Given the description of an element on the screen output the (x, y) to click on. 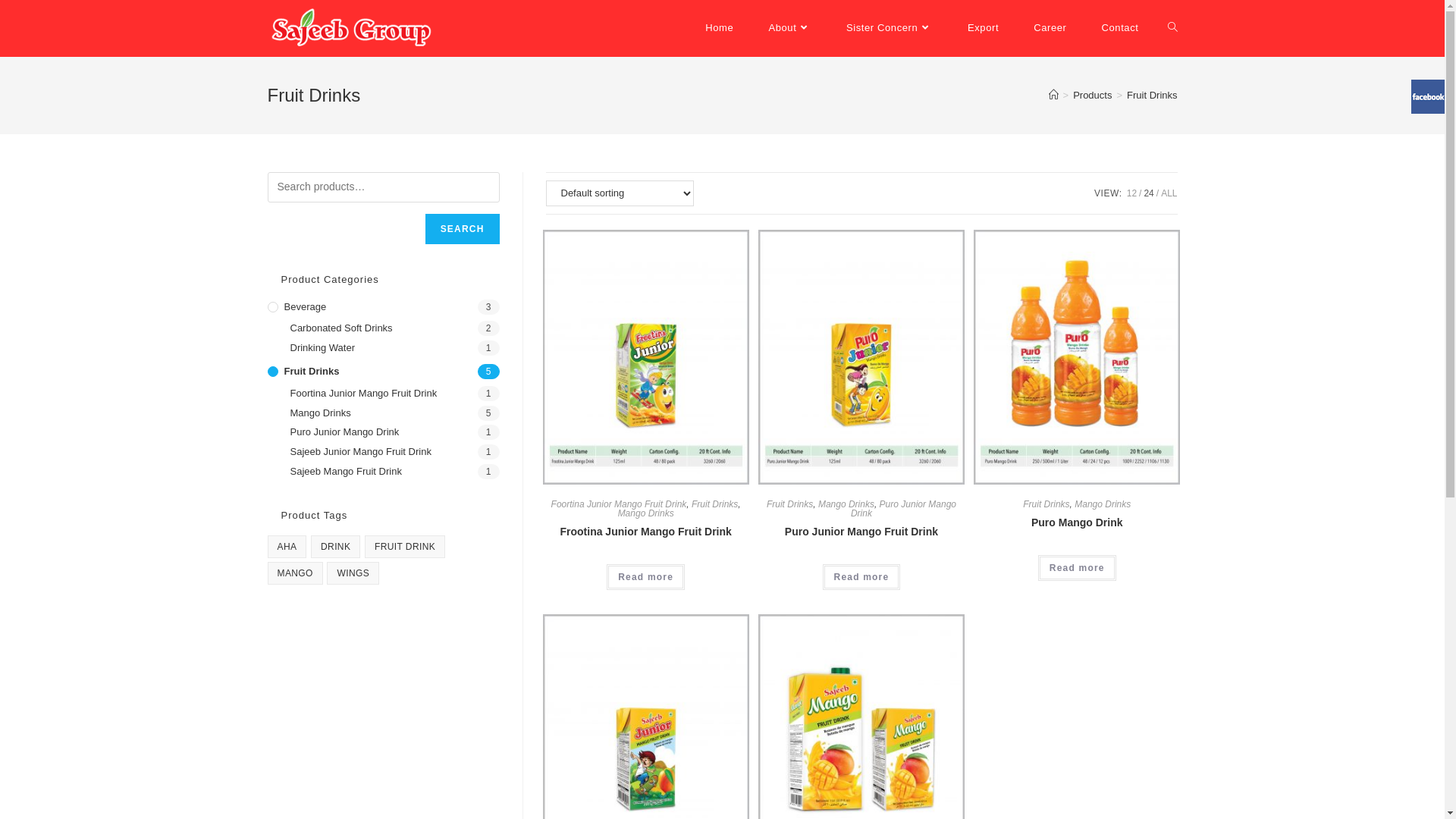
Frootina Junior Mango Fruit Drink Element type: text (645, 531)
Puro Mango Drink Element type: text (1077, 522)
Sajeeb Junior Mango Fruit Drink Element type: text (393, 452)
Drinking Water Element type: text (393, 348)
MANGO Element type: text (294, 572)
12 Element type: text (1131, 193)
Foortina Junior Mango Fruit Drink Element type: text (619, 503)
Mango Drinks Element type: text (646, 513)
Export Element type: text (983, 28)
Mango Drinks Element type: text (393, 413)
Home Element type: text (718, 28)
Beverage Element type: text (382, 307)
Mango Drinks Element type: text (1102, 503)
Read more Element type: text (645, 576)
Fruit Drinks Element type: text (1151, 94)
Read more Element type: text (861, 576)
DRINK Element type: text (335, 546)
Fruit Drinks Element type: text (1045, 503)
Carbonated Soft Drinks Element type: text (393, 328)
Puro Junior Mango Fruit Drink Element type: text (861, 531)
Read more Element type: text (1077, 567)
Puro Junior Mango Drink Element type: text (903, 508)
Sister Concern Element type: text (889, 28)
Fruit Drinks Element type: text (714, 503)
Puro Junior Mango Drink Element type: text (393, 432)
24 Element type: text (1148, 193)
WINGS Element type: text (352, 572)
ALL Element type: text (1168, 193)
Mango Drinks Element type: text (846, 503)
About Element type: text (789, 28)
Products Element type: text (1092, 94)
AHA Element type: text (286, 546)
Career Element type: text (1049, 28)
Fruit Drinks Element type: text (789, 503)
Fruit Drinks Element type: text (382, 371)
SEARCH Element type: text (462, 228)
Contact Element type: text (1119, 28)
Foortina Junior Mango Fruit Drink Element type: text (393, 393)
Sajeeb Mango Fruit Drink Element type: text (393, 472)
FRUIT DRINK Element type: text (404, 546)
